Given the description of an element on the screen output the (x, y) to click on. 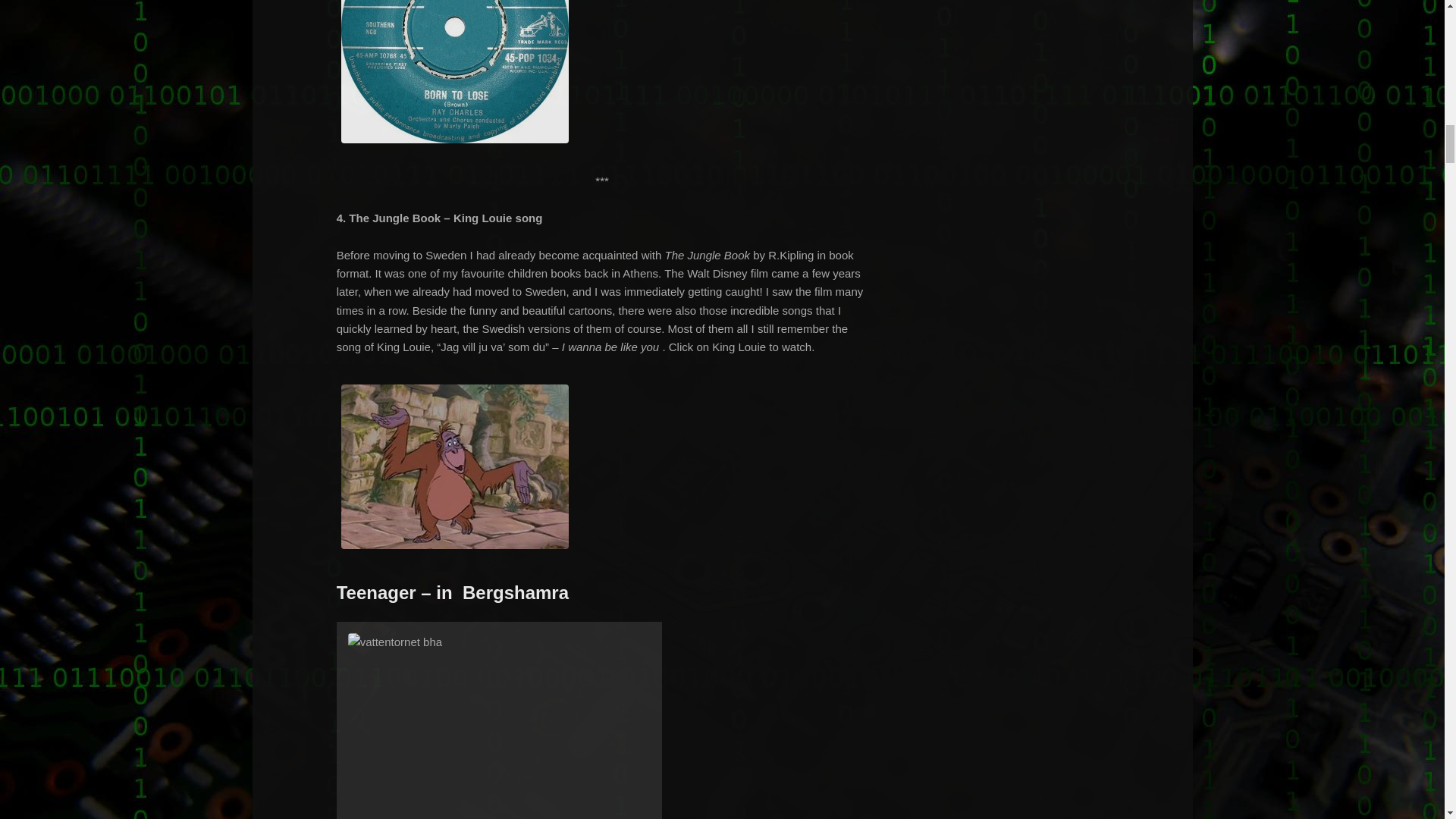
King Loui (454, 549)
Born to loose (454, 143)
vattentornet bha (498, 723)
